Given the description of an element on the screen output the (x, y) to click on. 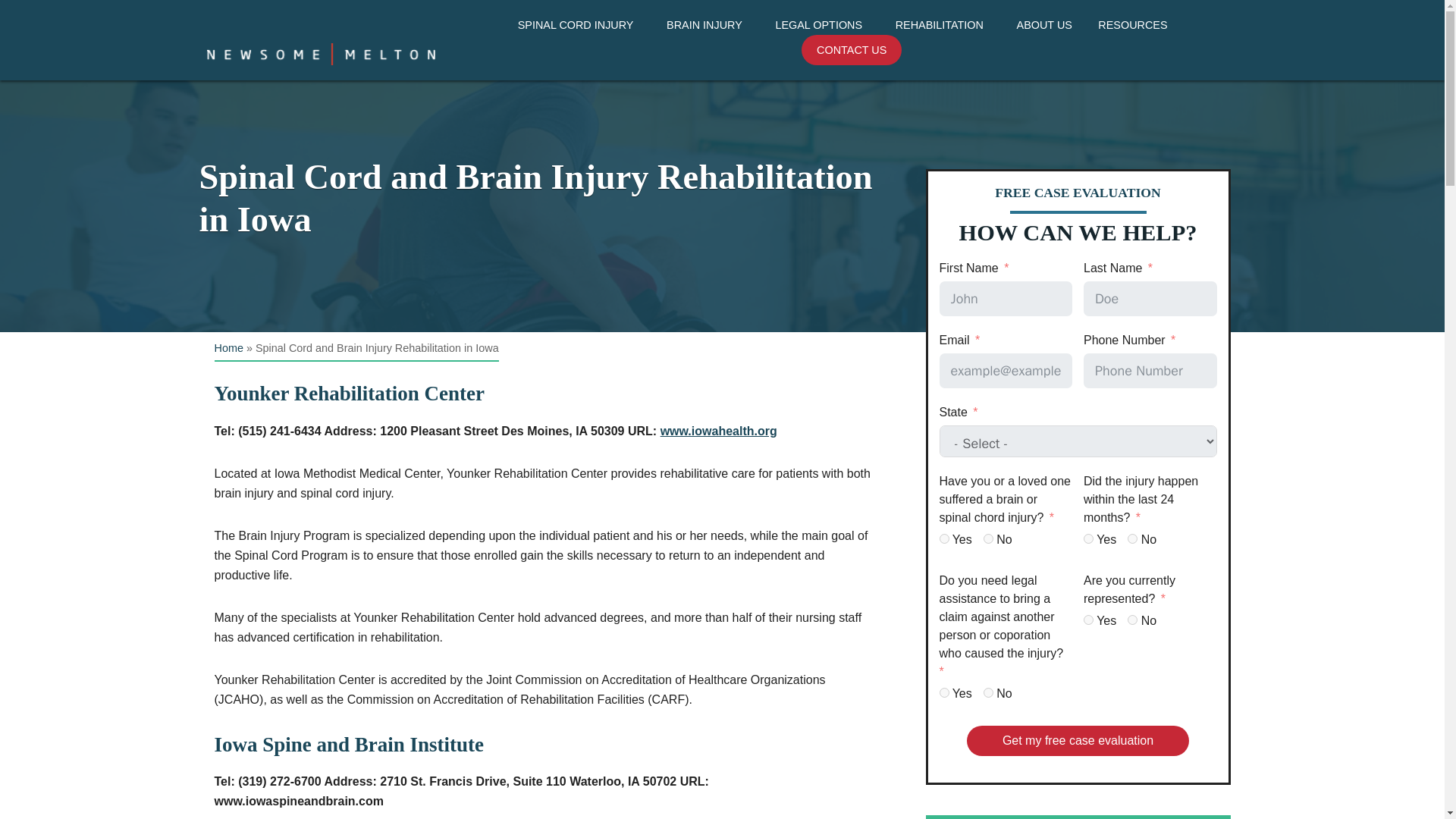
no (1131, 619)
Prognosis (580, 53)
no (988, 692)
Spinal Cord Injury Legal Information (824, 53)
Attorney Directory (944, 53)
Stories (1086, 80)
Rehab Center Directory (944, 53)
yes (1088, 538)
Brain Injury FAQs (709, 53)
